Given the description of an element on the screen output the (x, y) to click on. 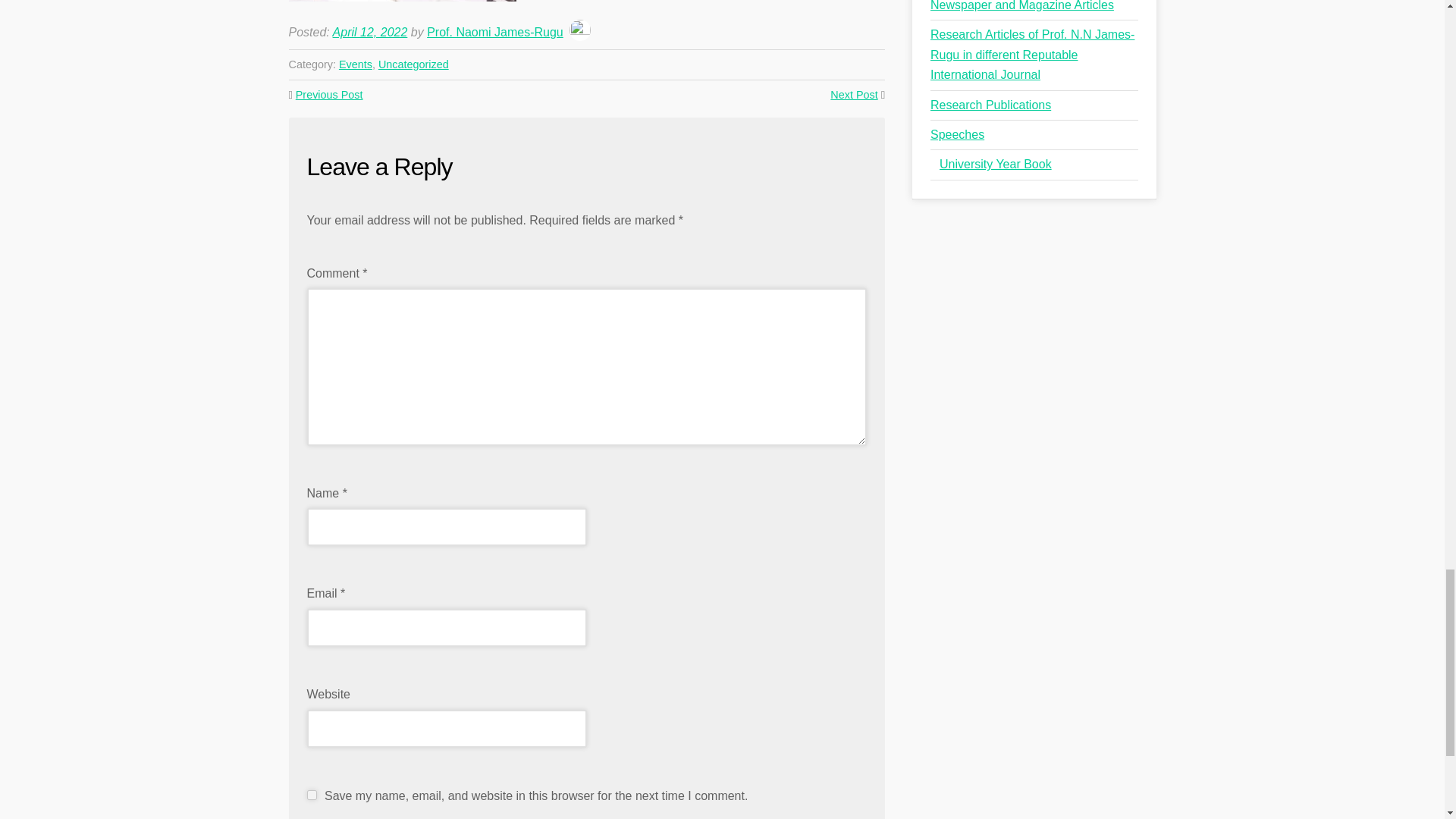
Events (355, 64)
Posts by Prof. Naomi James-Rugu (494, 31)
Previous Post (328, 94)
yes (310, 795)
Uncategorized (413, 64)
Prof. Naomi James-Rugu (494, 31)
April 12, 2022 (370, 31)
Next Post (853, 94)
